Given the description of an element on the screen output the (x, y) to click on. 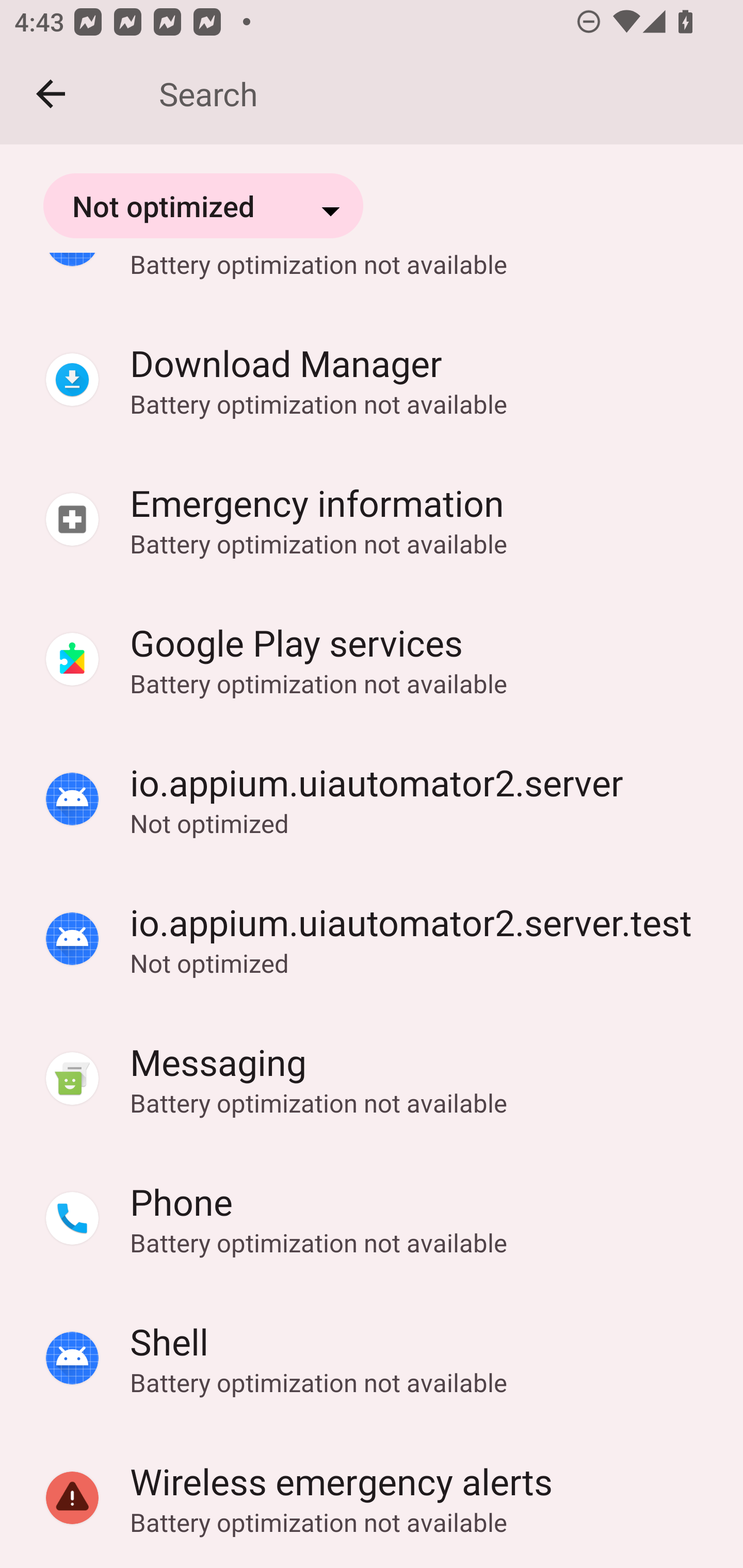
Collapse (50, 93)
Search (436, 94)
Not optimized (203, 205)
Phone Phone Battery optimization not available (371, 1218)
Shell Shell Battery optimization not available (371, 1358)
